Given the description of an element on the screen output the (x, y) to click on. 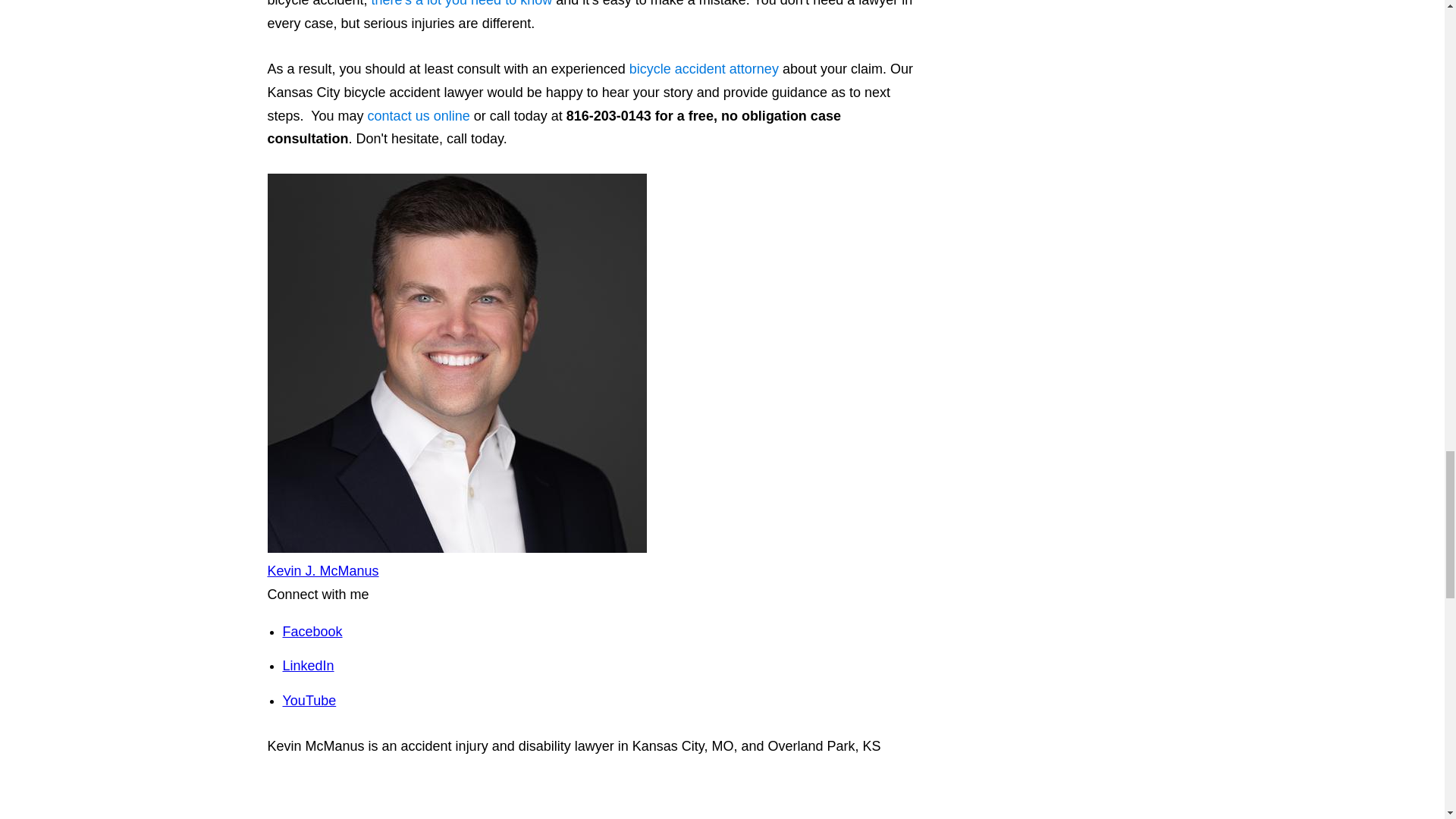
Find me on Facebook (312, 631)
Connect with me on LinkedIn (307, 665)
Watch me on YouTube (309, 700)
